Given the description of an element on the screen output the (x, y) to click on. 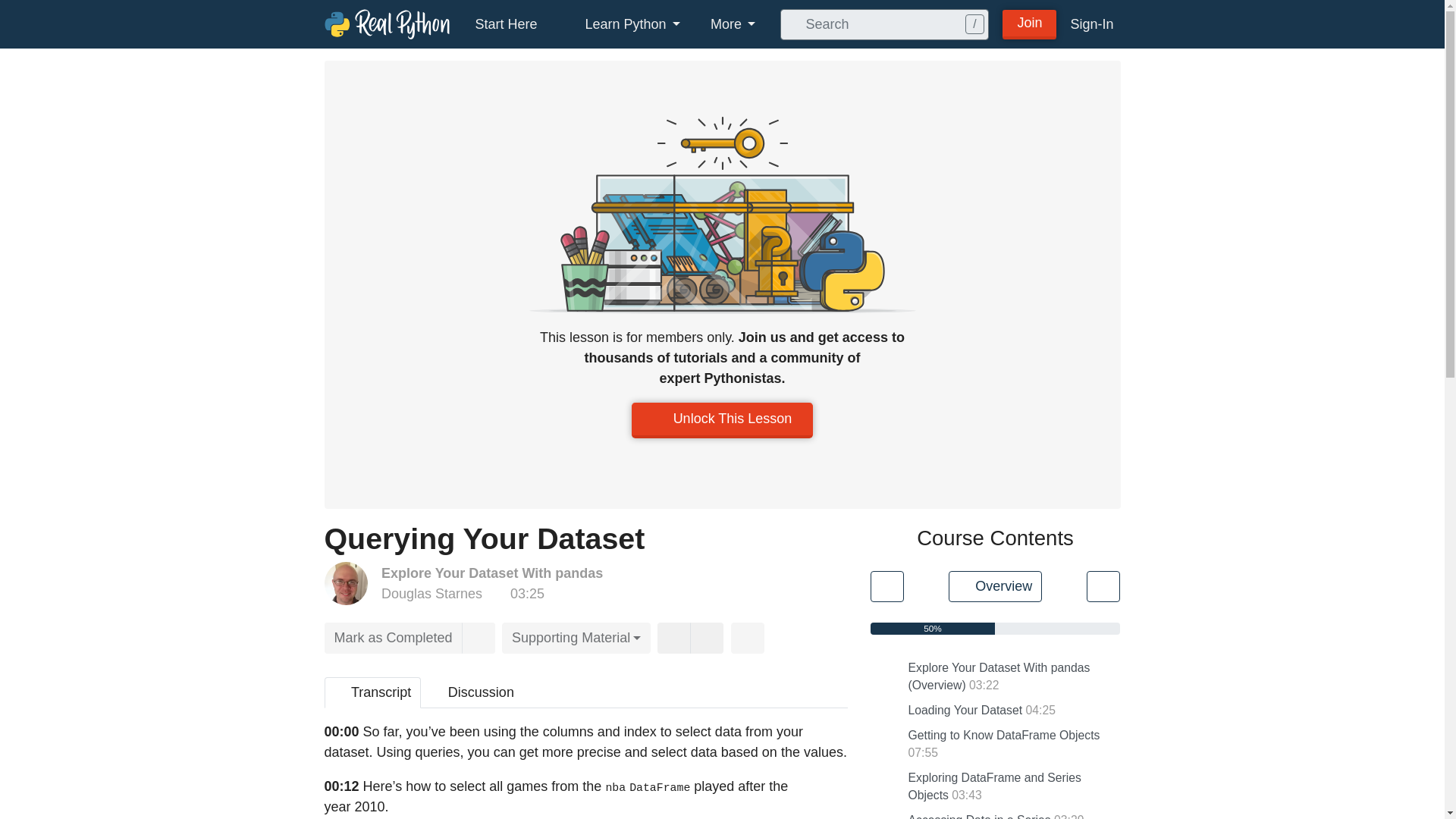
Start Here (505, 23)
Supporting Material (576, 637)
More (732, 23)
Liked it (674, 637)
Disliked it (706, 637)
Transcript (373, 692)
Join (1030, 23)
Mark lesson as completed (393, 637)
Explore Your Dataset With pandas (491, 572)
Search (790, 23)
